Given the description of an element on the screen output the (x, y) to click on. 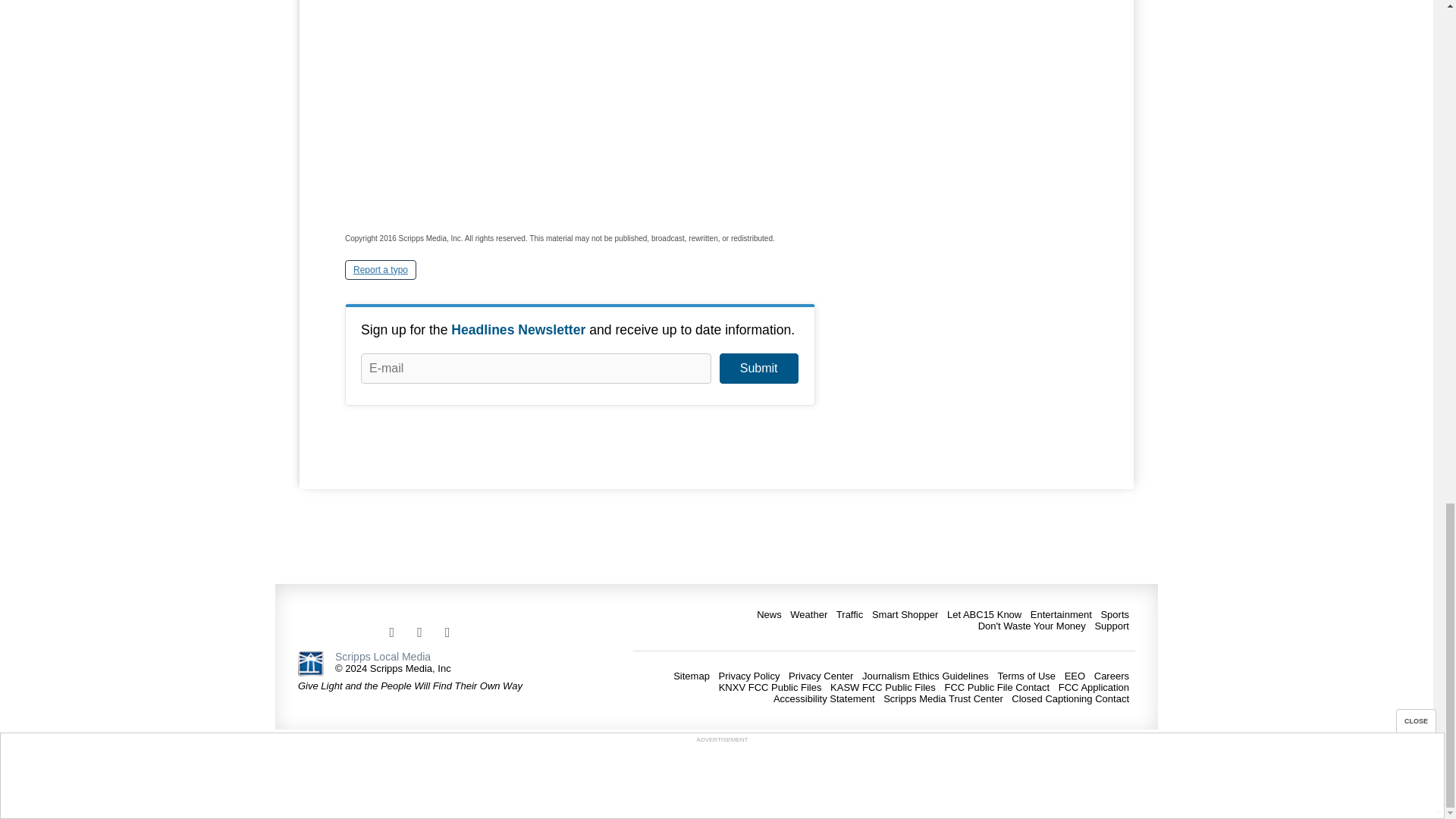
Submit (758, 368)
